Given the description of an element on the screen output the (x, y) to click on. 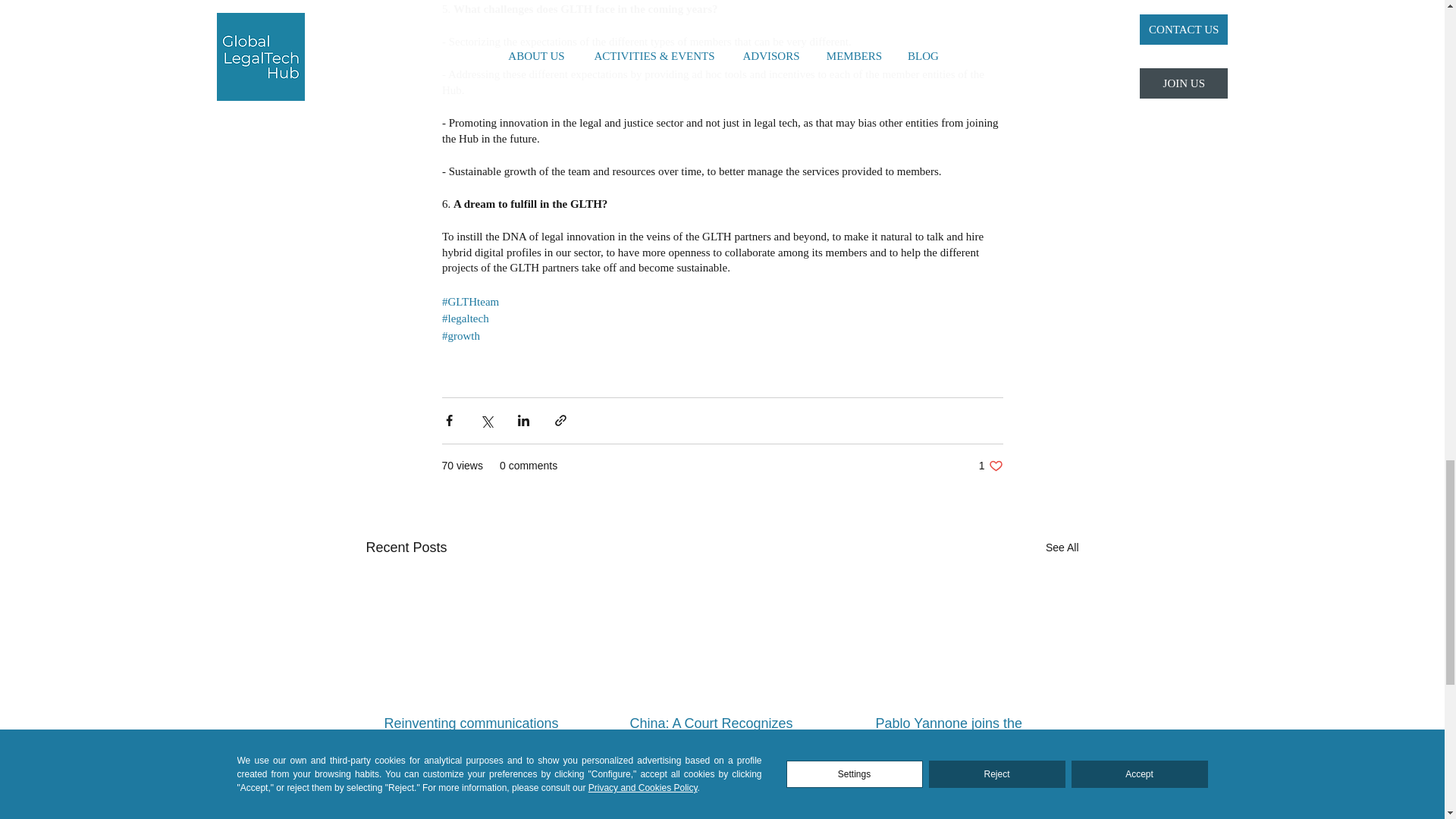
Post not marked as liked (560, 784)
0 (685, 784)
0 (930, 784)
See All (1061, 547)
0 (434, 784)
Post not marked as liked (1052, 784)
Post not marked as liked (806, 784)
